Given the description of an element on the screen output the (x, y) to click on. 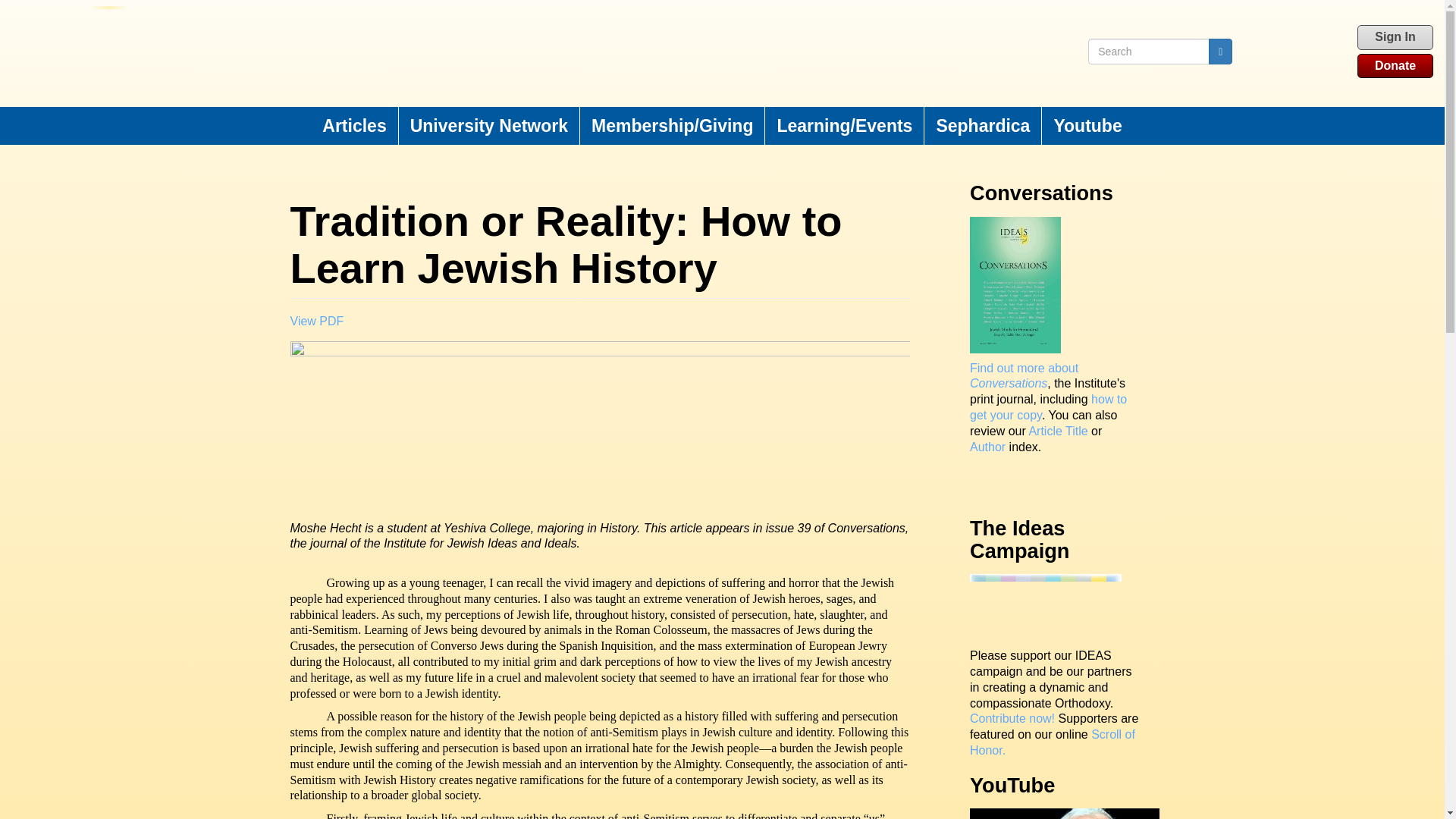
Search (1219, 51)
Home (472, 52)
Sign In (1394, 36)
Donate (1394, 66)
how to get your copy (1047, 407)
Articles (354, 125)
Sign In (1394, 37)
Youtube (1087, 125)
Scroll of Honor. (1052, 742)
Author (987, 446)
